Given the description of an element on the screen output the (x, y) to click on. 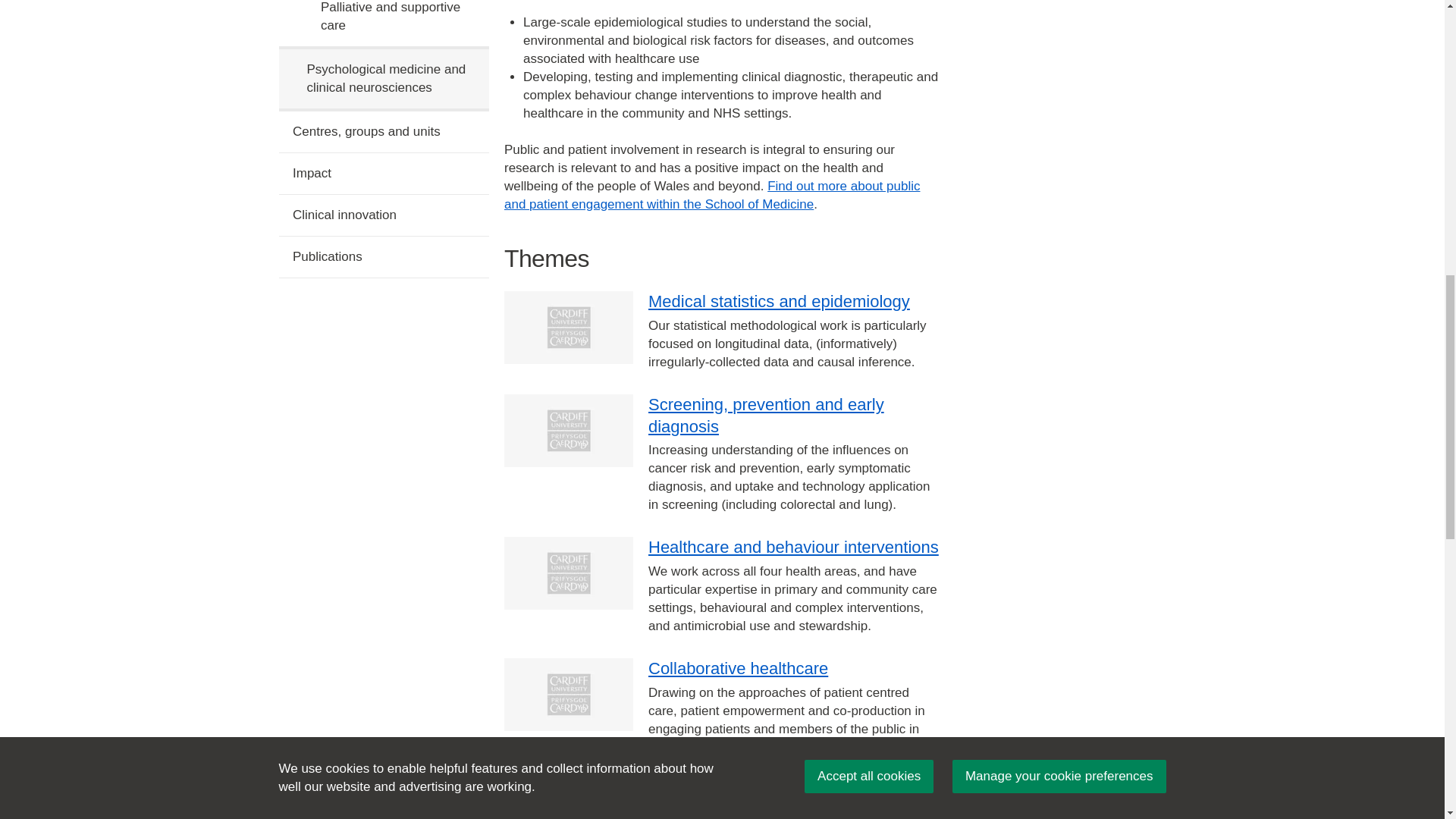
Public and patient engagement (711, 195)
